Given the description of an element on the screen output the (x, y) to click on. 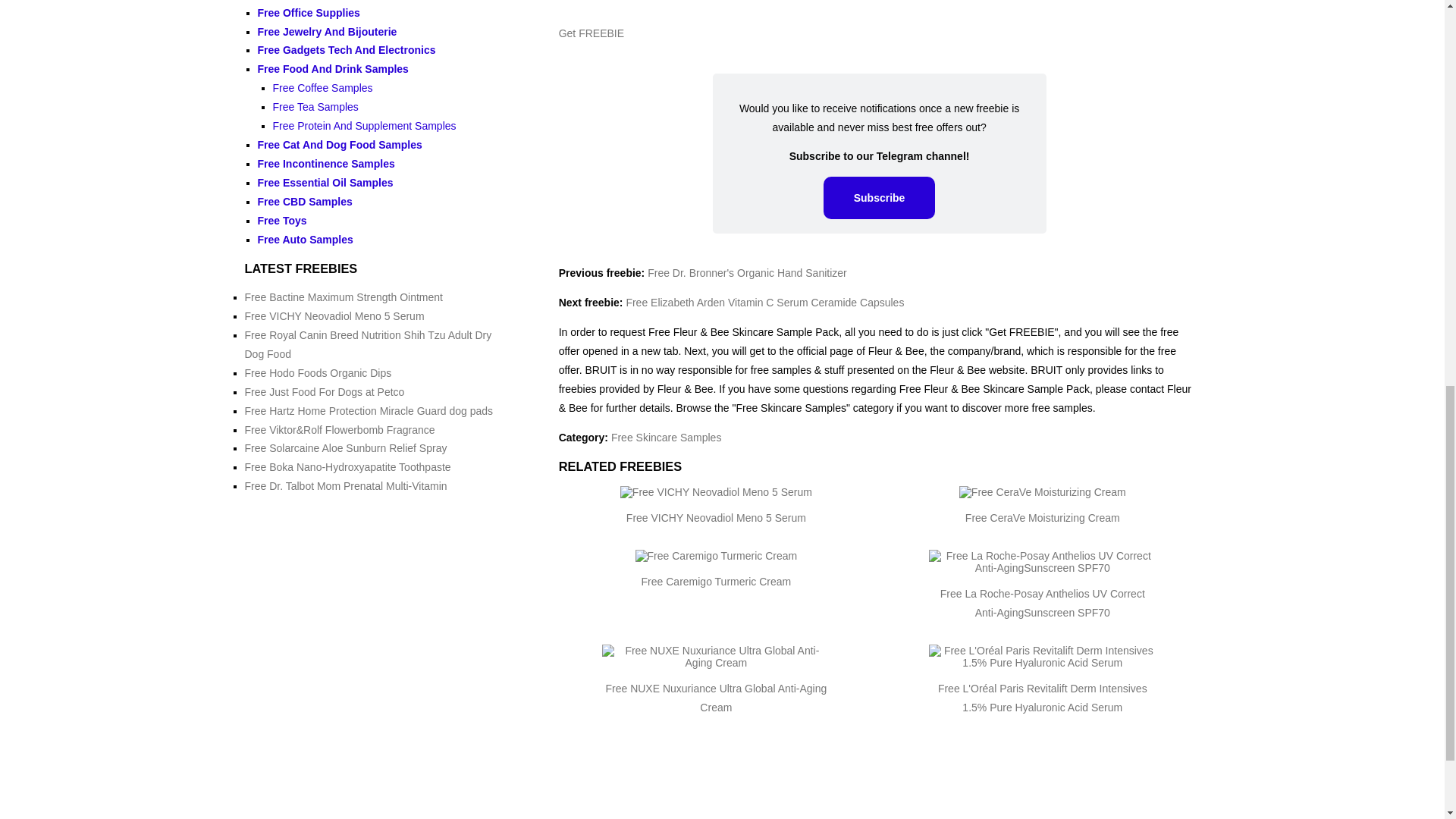
Get FREEBIE (591, 33)
Free VICHY Neovadiol Meno 5 Serum (716, 517)
Free NUXE Nuxuriance Ultra Global Anti-Aging Cream (716, 697)
Advertisement (879, 6)
Free CeraVe Moisturizing Cream (1042, 517)
Subscribe (880, 197)
Free Skincare Samples (666, 437)
Free Caremigo Turmeric Cream (717, 581)
Free Elizabeth Arden Vitamin C Serum Ceramide Capsules (765, 302)
